Given the description of an element on the screen output the (x, y) to click on. 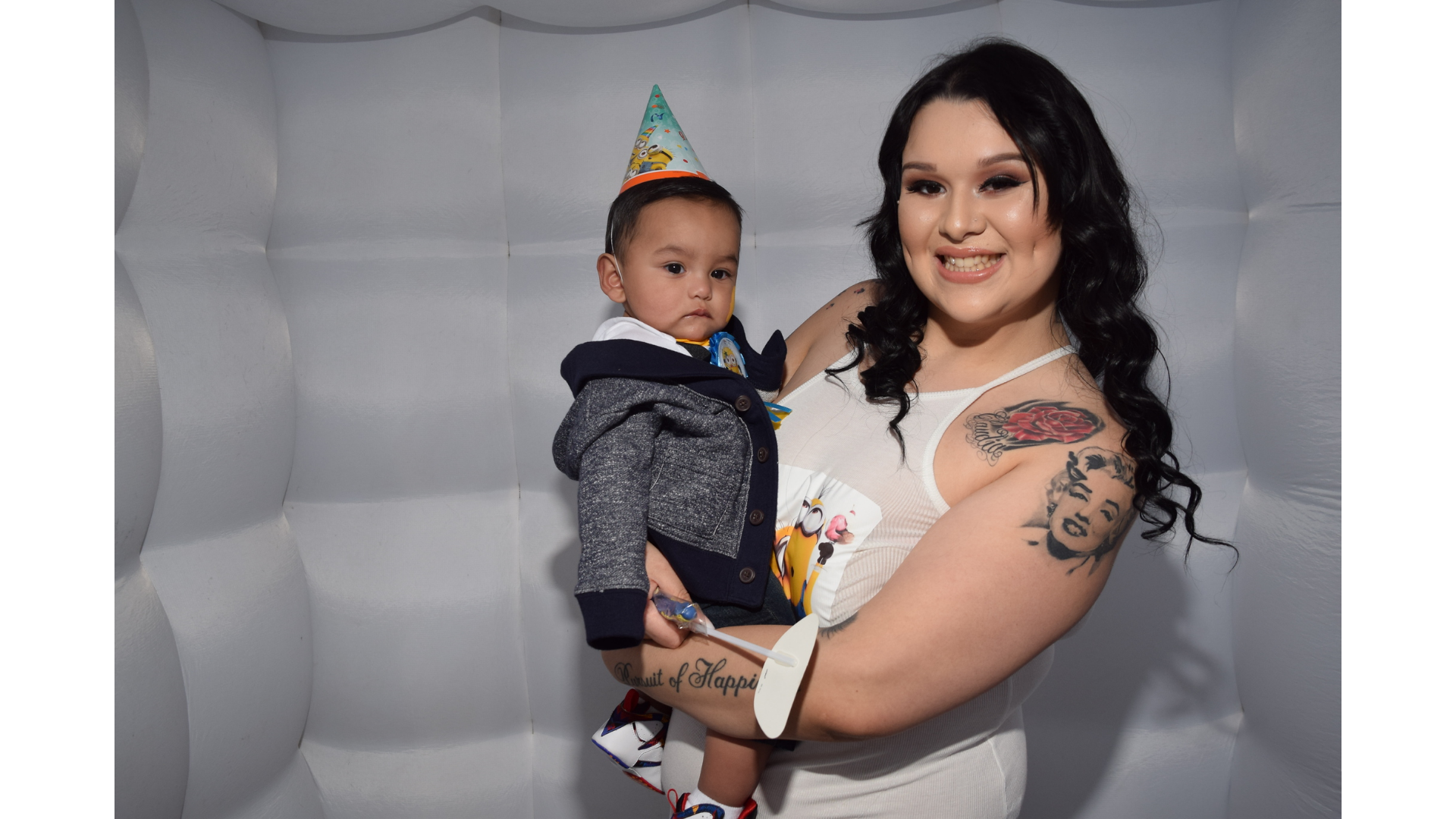
Buy Element type: hover (285, 444)
Share Gallery Element type: hover (1232, 212)
Contact Us Element type: text (1384, 77)
Photo Booth Rental Element type: text (1112, 77)
Buy Element type: hover (567, 444)
Slideshow Element type: hover (1269, 212)
Buy Element type: hover (1130, 444)
Buy Element type: hover (1412, 444)
Buy Element type: hover (567, 674)
Buy Element type: hover (1412, 674)
BUY PHOTOS Element type: text (1357, 212)
Buy Element type: hover (849, 444)
Buy Element type: hover (285, 674)
Shop Element type: text (1303, 77)
Home Element type: text (992, 77)
Buy Element type: hover (1130, 674)
Buy Element type: hover (849, 674)
Gallery Element type: text (1236, 77)
